Given the description of an element on the screen output the (x, y) to click on. 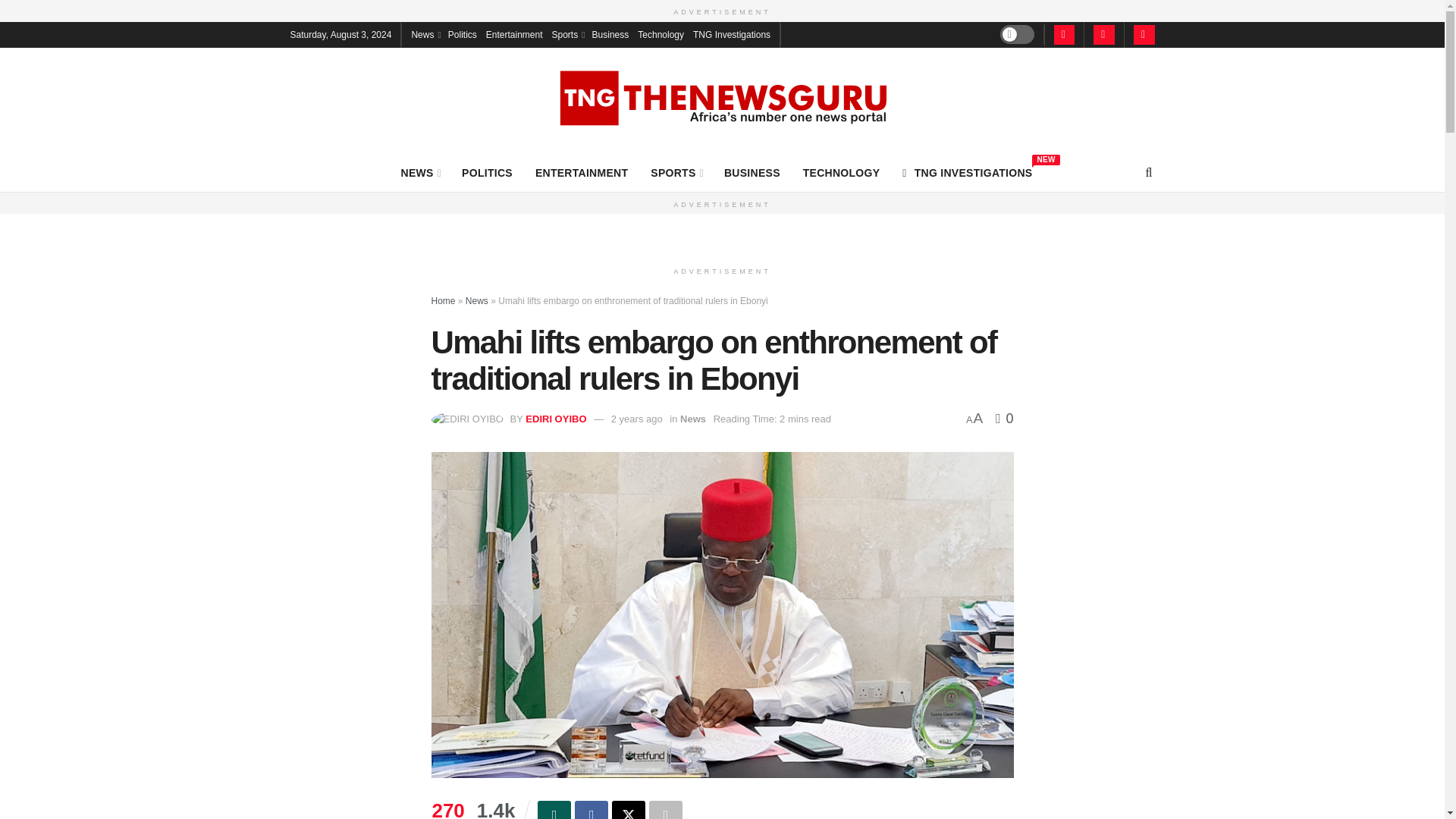
NEWS (420, 172)
Politics (462, 33)
Entertainment (514, 33)
Sports (567, 33)
POLITICS (486, 172)
Business (610, 33)
BUSINESS (751, 172)
Technology (660, 33)
News (424, 33)
TECHNOLOGY (841, 172)
ENTERTAINMENT (581, 172)
TNG Investigations (967, 172)
SPORTS (731, 33)
